Given the description of an element on the screen output the (x, y) to click on. 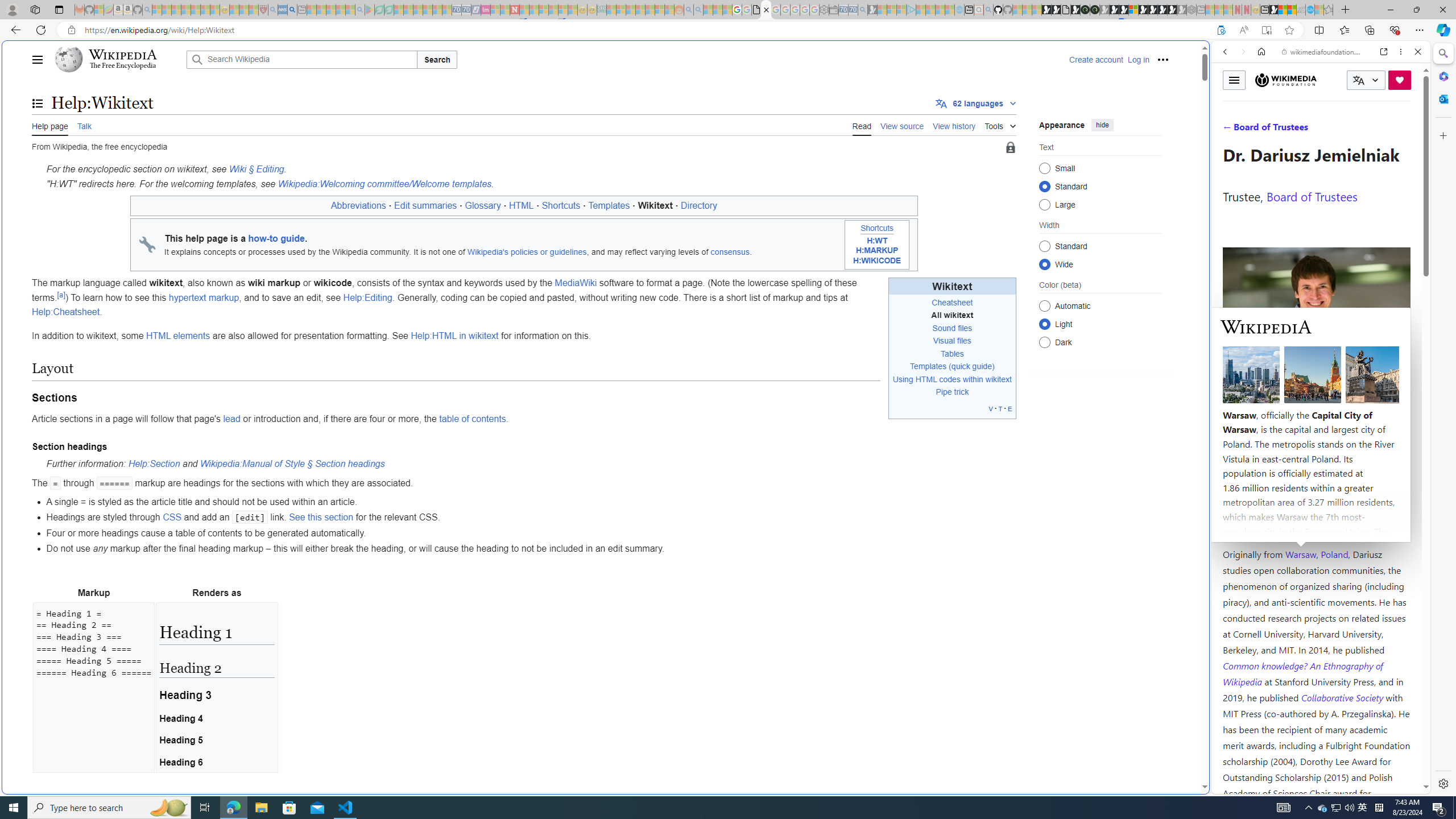
Read (861, 124)
Renders as (216, 592)
Templates (quick guide) (951, 366)
Templates (928, 366)
World - MSN (1283, 9)
Poland (1334, 554)
14 Common Myths Debunked By Scientific Facts - Sleeping (533, 9)
t (1000, 408)
H:MARKUP (877, 250)
